Given the description of an element on the screen output the (x, y) to click on. 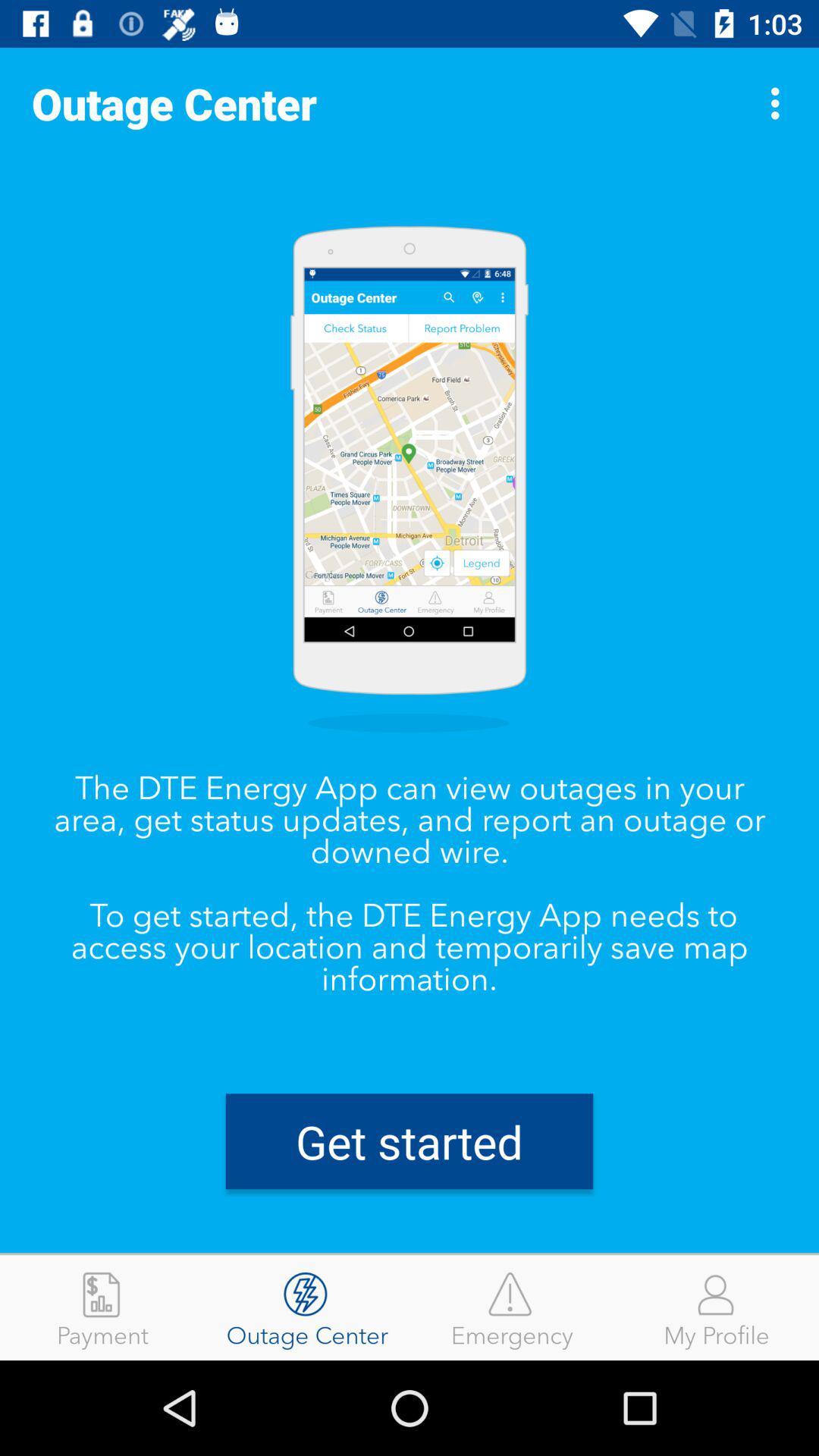
launch the icon to the right of the outage center item (511, 1307)
